Given the description of an element on the screen output the (x, y) to click on. 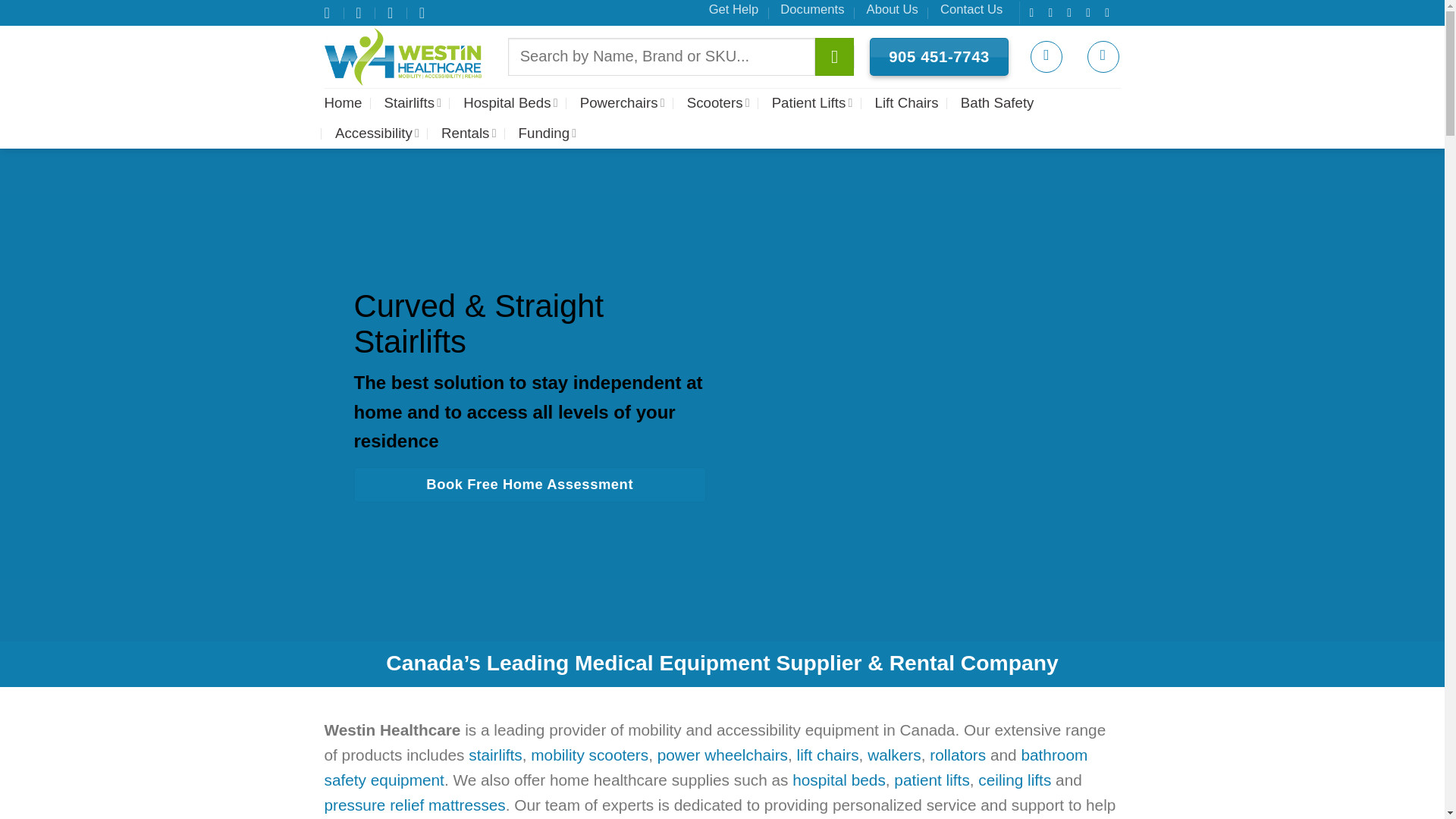
About Us (892, 9)
Stairlifts (412, 102)
Home (343, 102)
Contact Us (971, 9)
Unit 7, 15 Fisherman Drive, Brampton, ON, L7A1B7 (329, 12)
Follow on Facebook (1035, 11)
Follow on Instagram (1053, 11)
19054517743 (424, 12)
905 451-7743 (939, 56)
Get Help (733, 9)
Search (834, 56)
Documents (812, 9)
Follow on LinkedIn (1110, 11)
Follow on Twitter (1072, 11)
Send us an email (1091, 11)
